Given the description of an element on the screen output the (x, y) to click on. 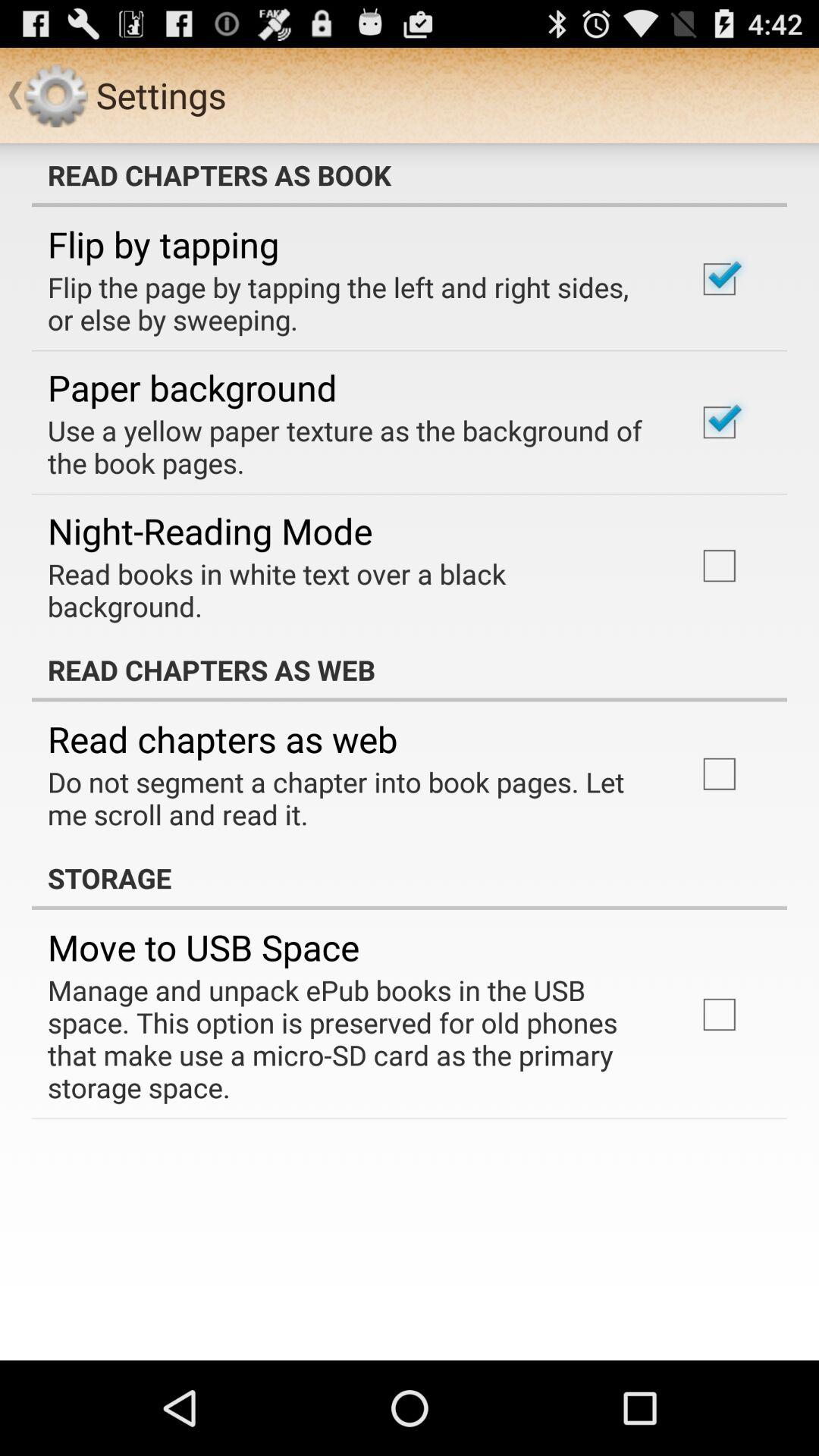
turn off the icon below read chapters as icon (351, 798)
